Given the description of an element on the screen output the (x, y) to click on. 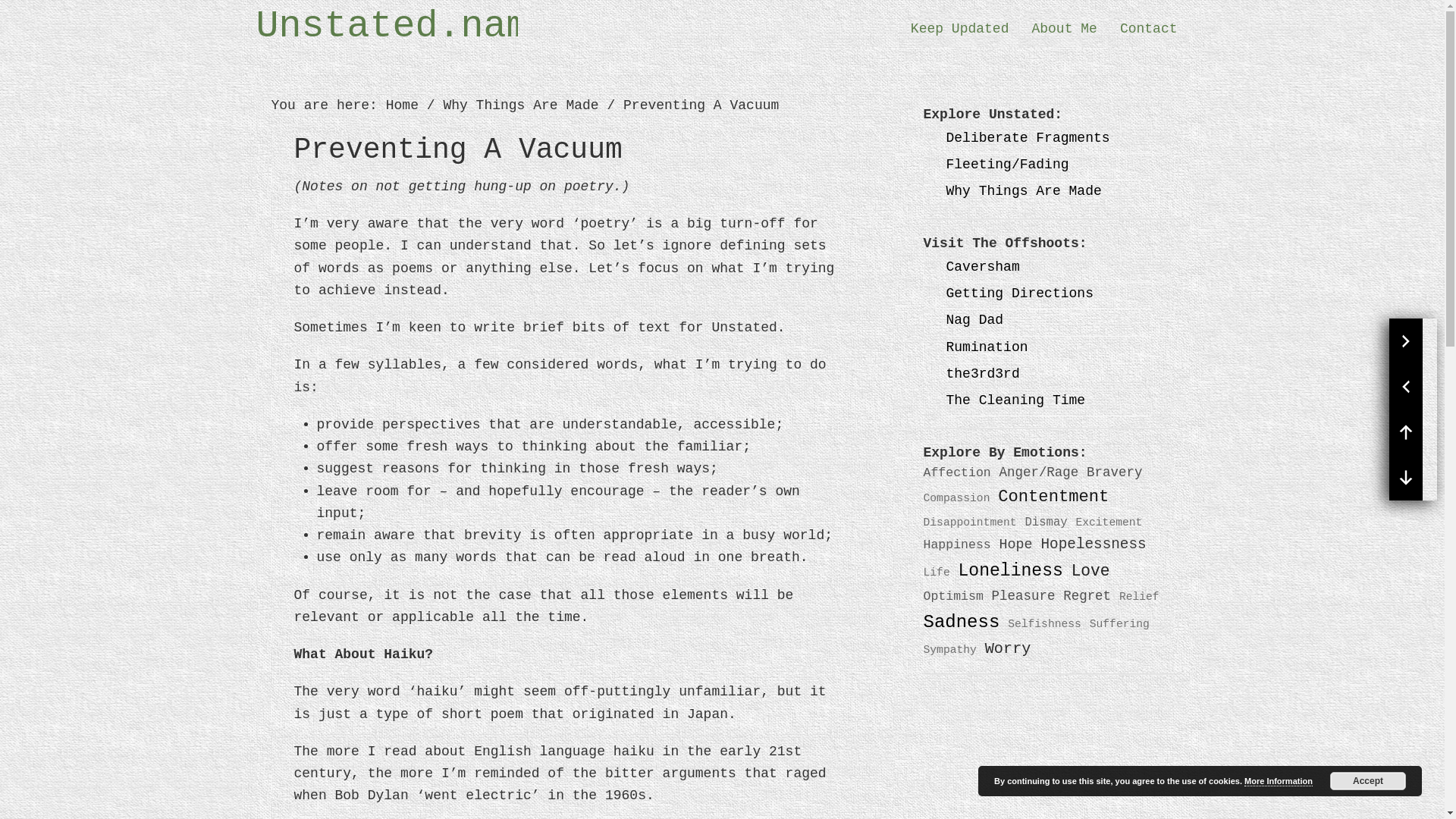
10 topics (1093, 544)
Love (1090, 570)
Compassion (956, 498)
Contact (1148, 28)
the3rd3rd (983, 373)
Bravery (1113, 472)
Happiness (957, 544)
Contentment (1052, 496)
6 topics (953, 595)
Relief (1138, 596)
8 topics (1086, 595)
Pleasure (1023, 595)
Getting Directions (1019, 293)
About Me (1064, 28)
Optimism (953, 595)
